Given the description of an element on the screen output the (x, y) to click on. 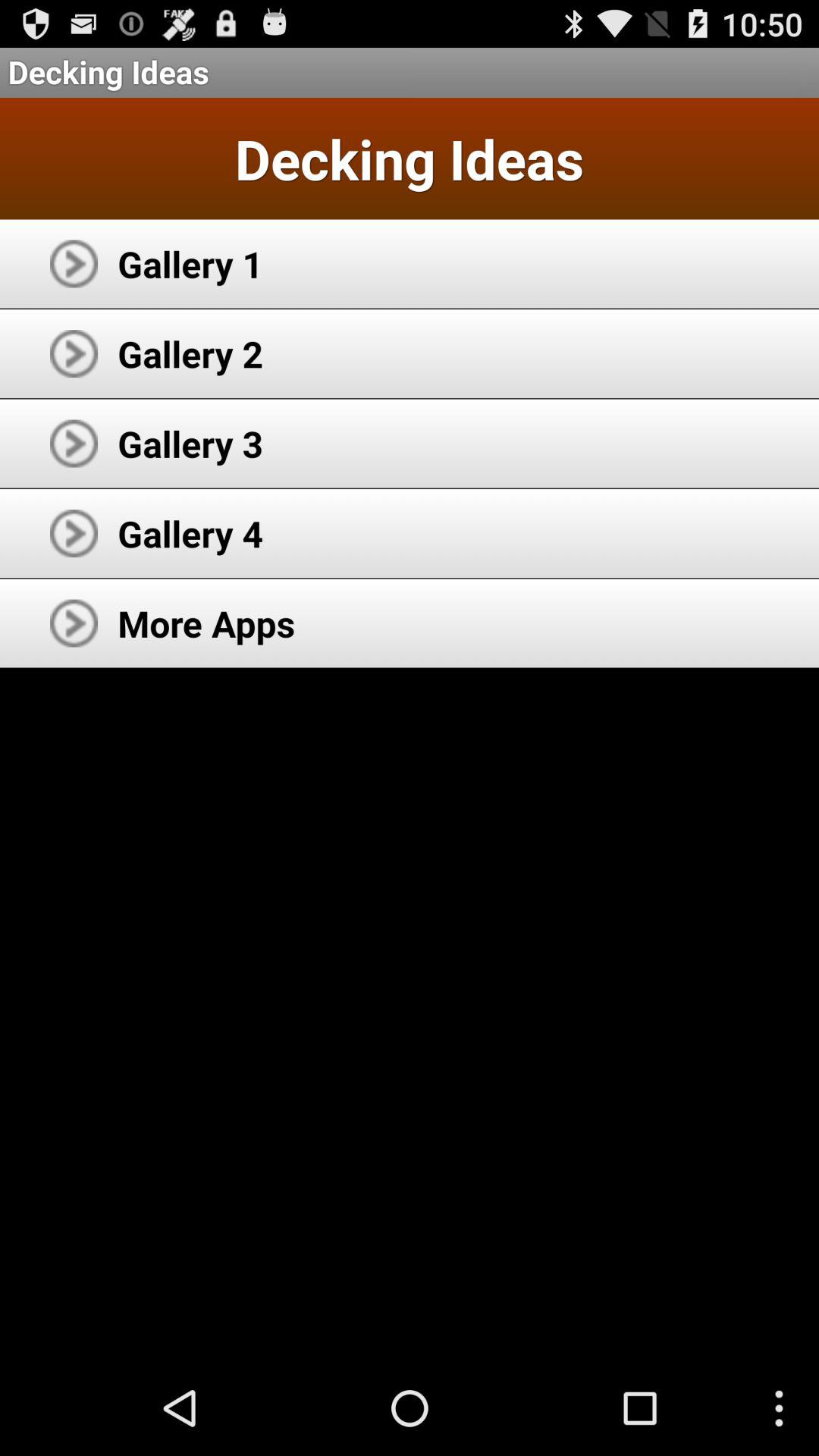
press icon above the more apps app (190, 533)
